Given the description of an element on the screen output the (x, y) to click on. 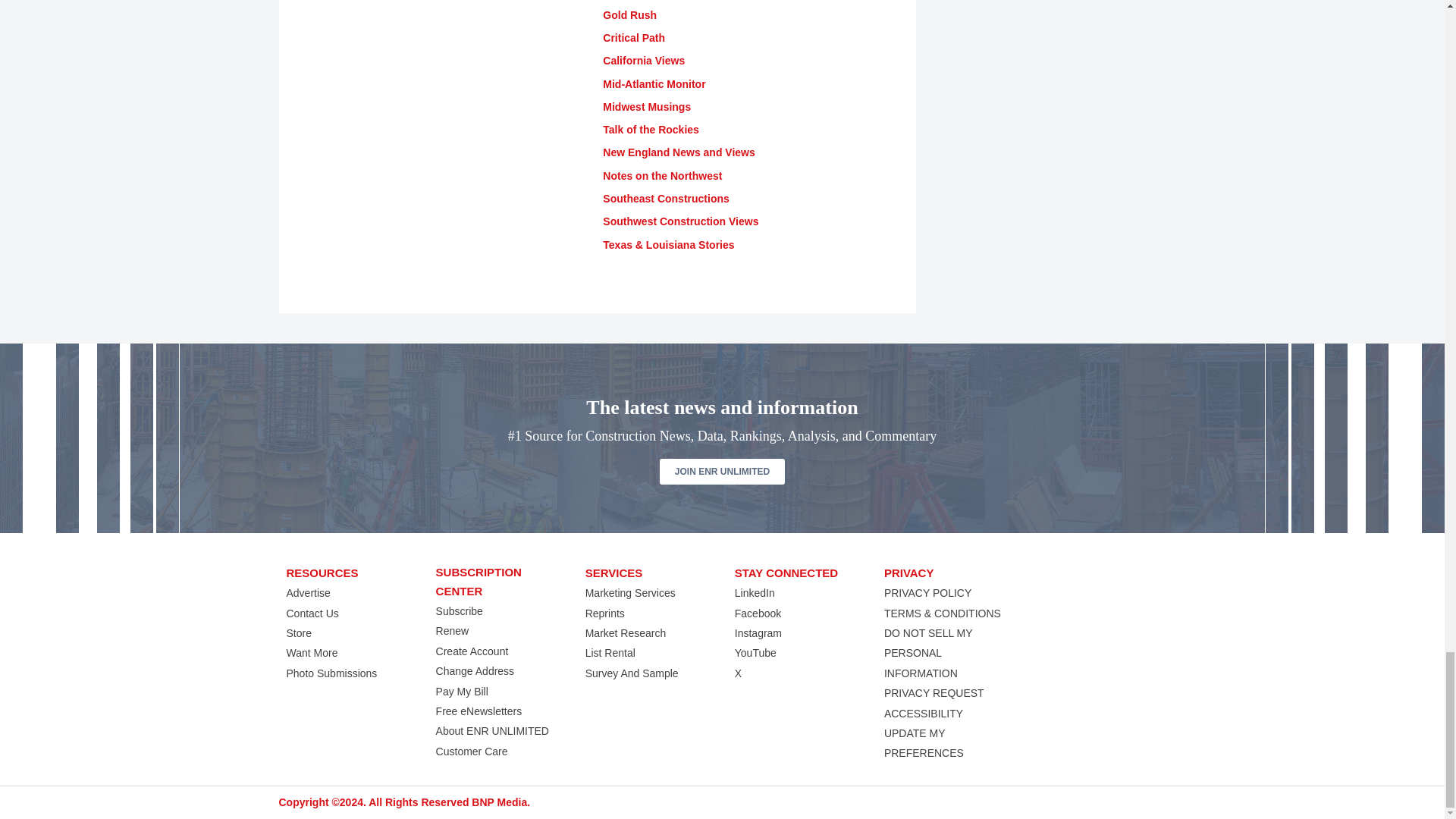
Midwest Musings (646, 106)
Mid-Atlantic Monitor (653, 83)
California Views (643, 60)
Critical Path (633, 37)
Gold Rush (629, 15)
